Given the description of an element on the screen output the (x, y) to click on. 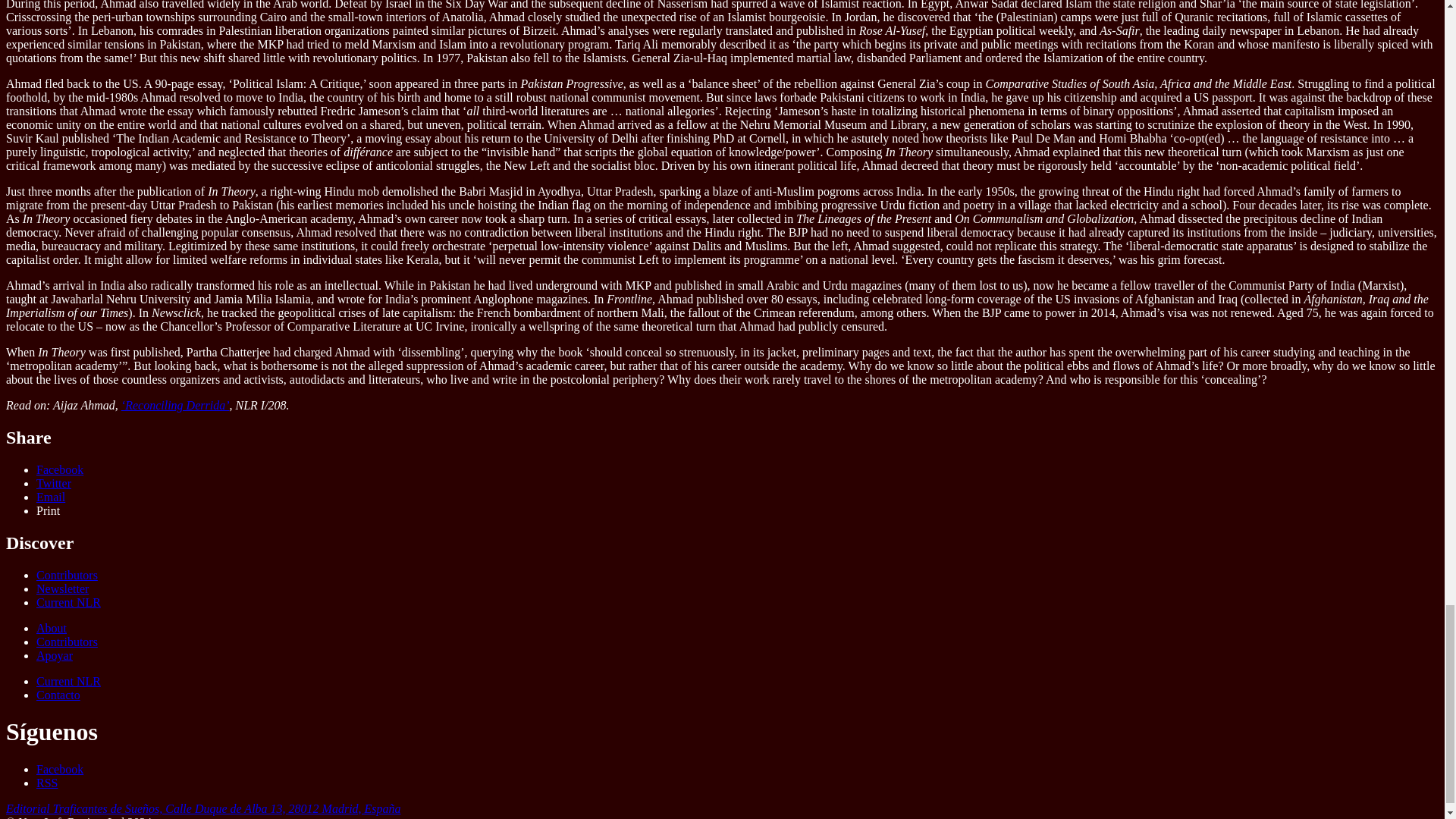
Facebook (59, 469)
About (51, 627)
Email (50, 496)
Newsletter (62, 588)
Print (47, 510)
Contacto (58, 694)
Contributors (66, 574)
Contributors (66, 641)
Current NLR (68, 680)
Current NLR (68, 602)
